Given the description of an element on the screen output the (x, y) to click on. 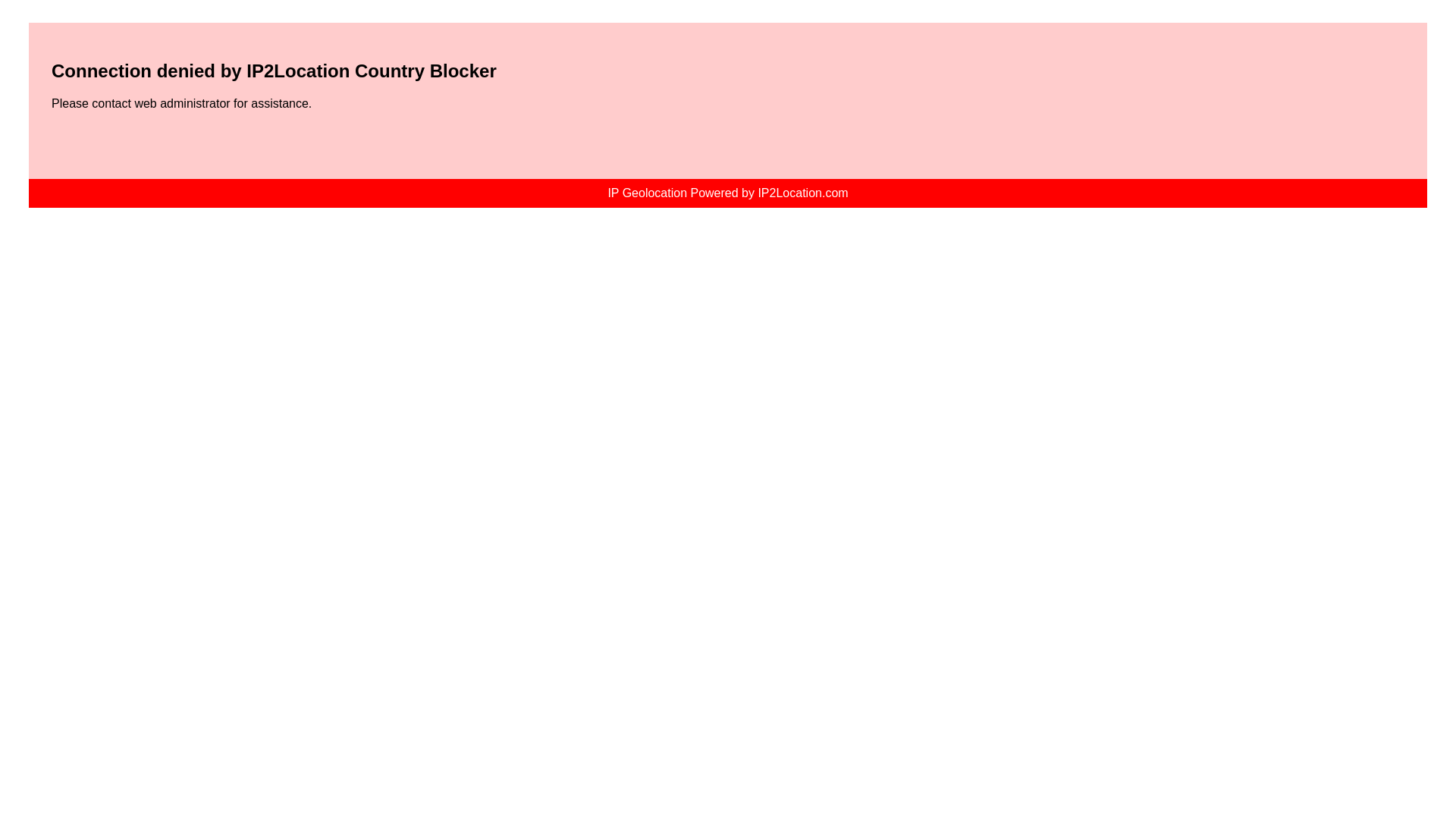
IP Geolocation Powered by IP2Location.com (727, 192)
